Given the description of an element on the screen output the (x, y) to click on. 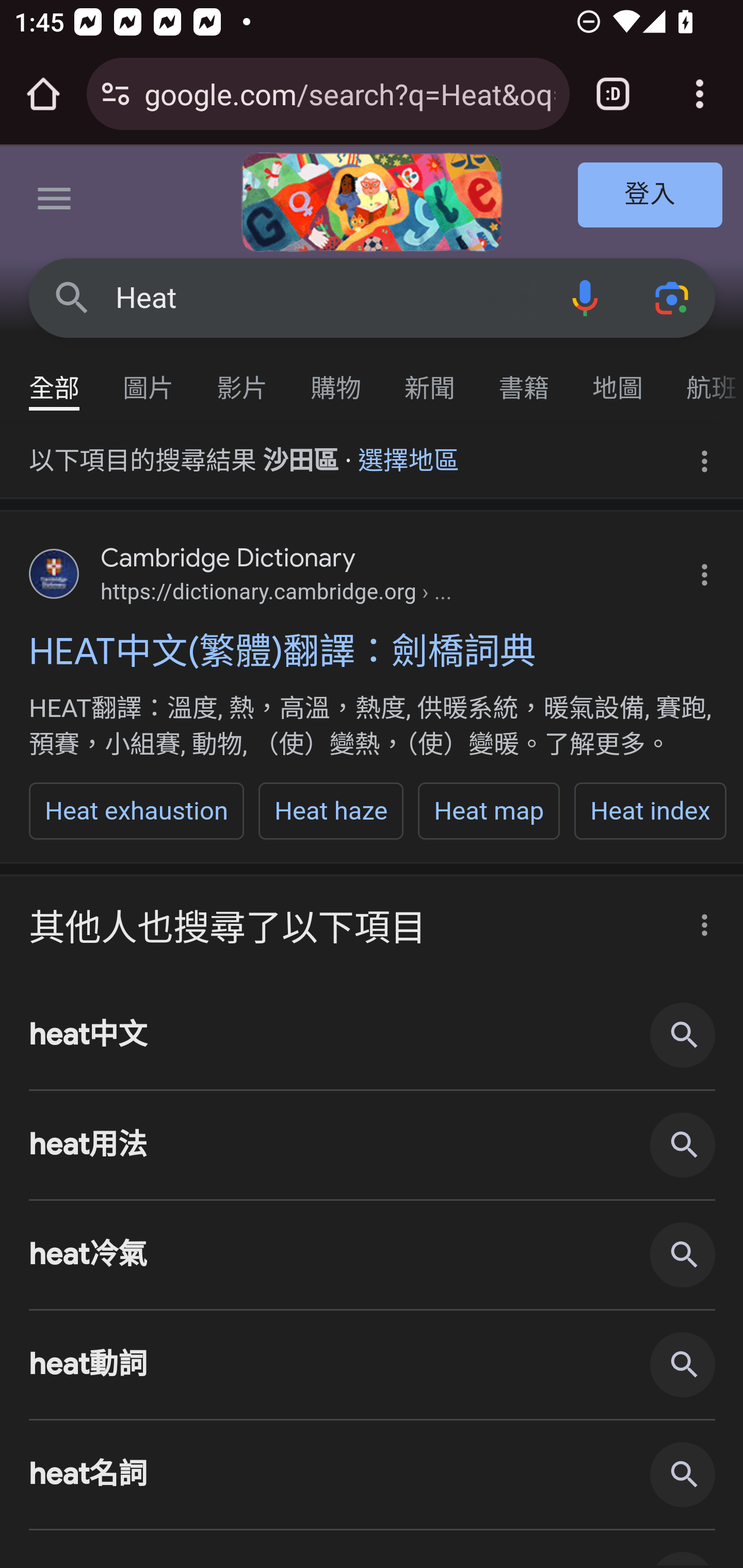
Open the home page (43, 93)
Connection is secure (115, 93)
Switch or close tabs (612, 93)
Customize and control Google Chrome (699, 93)
2024 年國際婦女節 (371, 202)
主選單 (54, 202)
登入 (650, 195)
Google 搜尋 (71, 296)
使用相機或相片搜尋 (672, 296)
Heat (328, 297)
圖片 (148, 378)
影片 (242, 378)
購物 (336, 378)
新聞 (430, 378)
書籍 (524, 378)
地圖 (618, 378)
航班 (703, 378)
選擇地區 (408, 453)
HEAT中文(繁體)翻譯：劍橋詞典 (372, 651)
Heat exhaustion (136, 811)
Heat haze (330, 811)
Heat map (488, 811)
Heat index (650, 811)
關於此結果 (698, 919)
heat中文 (372, 1034)
heat用法 (372, 1144)
heat冷氣 (372, 1254)
heat動詞 (372, 1365)
heat名詞 (372, 1474)
